Given the description of an element on the screen output the (x, y) to click on. 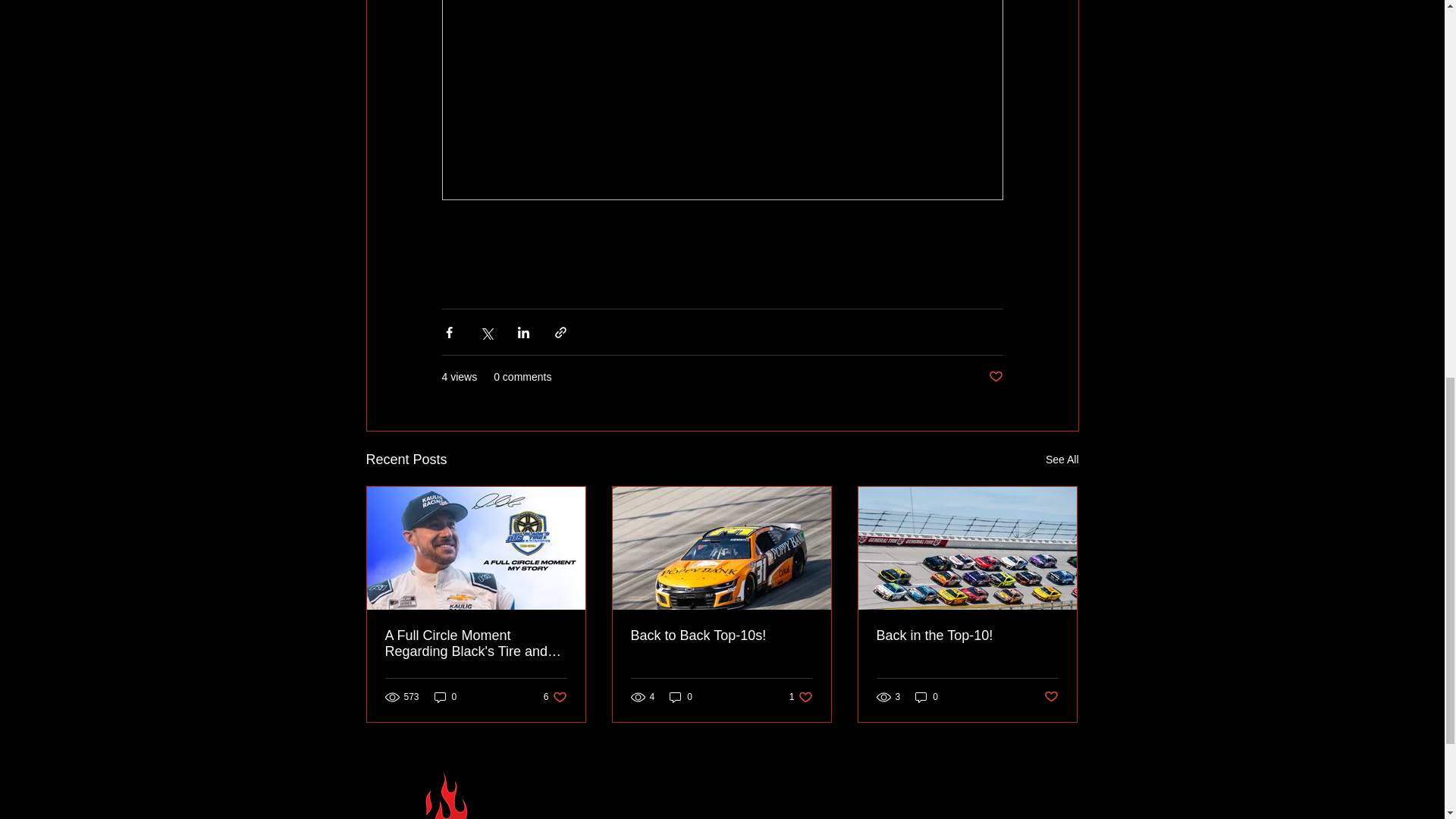
Newsletter Sign-Up (867, 817)
0 (926, 697)
See All (1061, 459)
0 (445, 697)
Back in the Top-10! (800, 697)
0 (967, 635)
Back to Back Top-10s! (681, 697)
Email Now (721, 635)
Post not marked as liked (555, 697)
Post not marked as liked (631, 817)
